Given the description of an element on the screen output the (x, y) to click on. 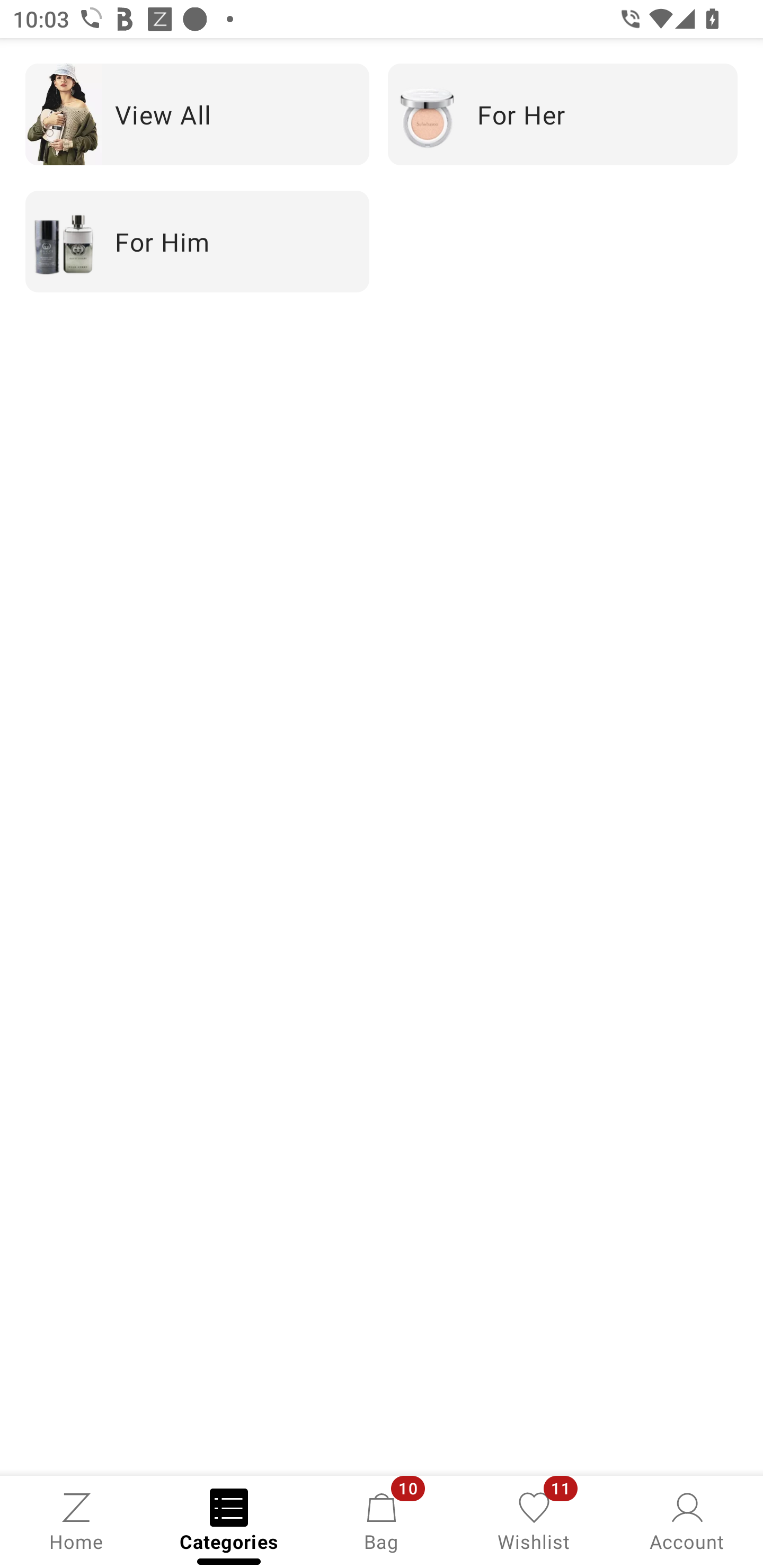
View All (197, 114)
For Her (562, 114)
For Him (197, 241)
Home (76, 1519)
Bag, 10 new notifications Bag (381, 1519)
Wishlist, 11 new notifications Wishlist (533, 1519)
Account (686, 1519)
